Given the description of an element on the screen output the (x, y) to click on. 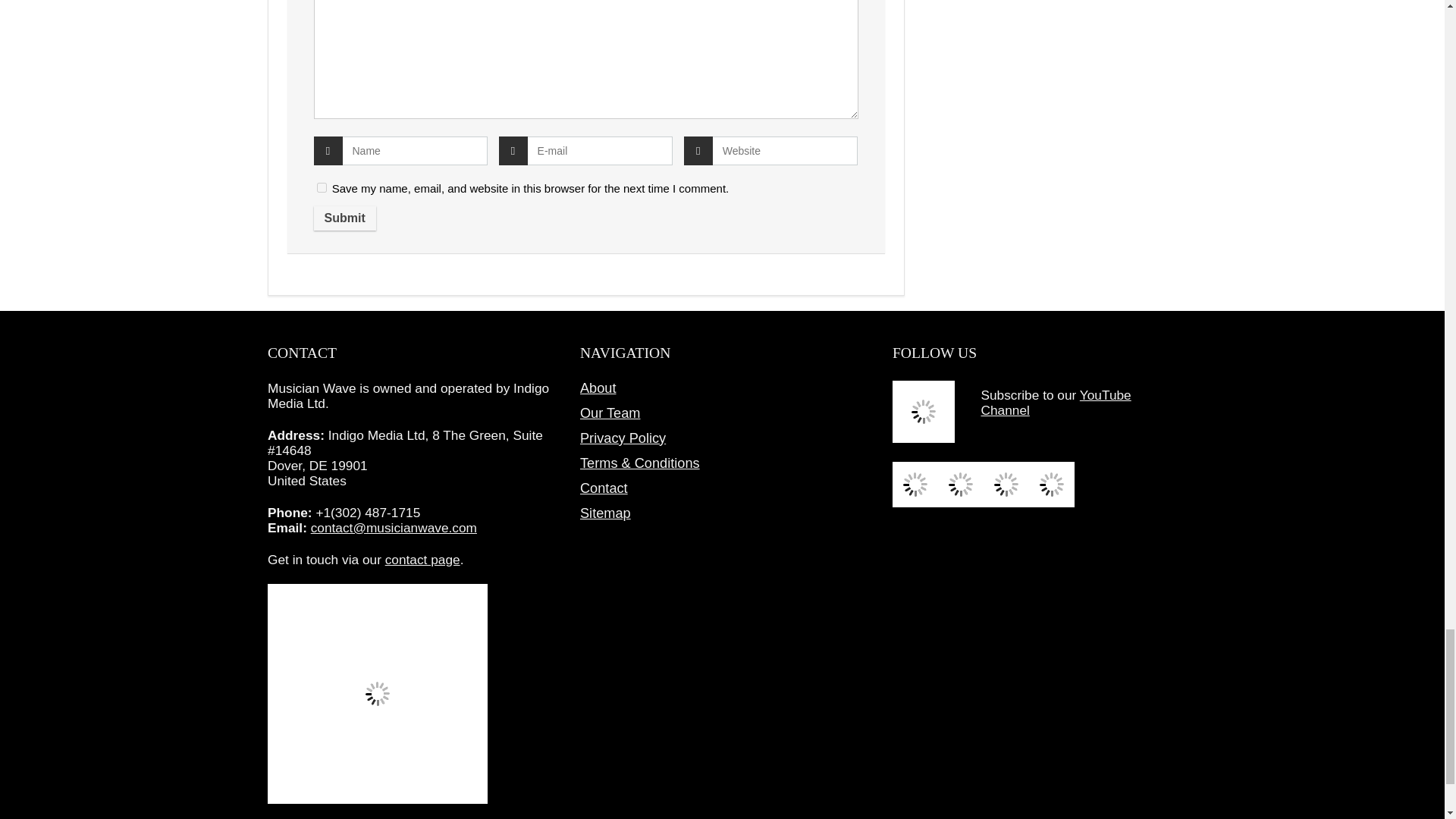
yes (321, 187)
Submit (344, 218)
Submit (344, 218)
